Given the description of an element on the screen output the (x, y) to click on. 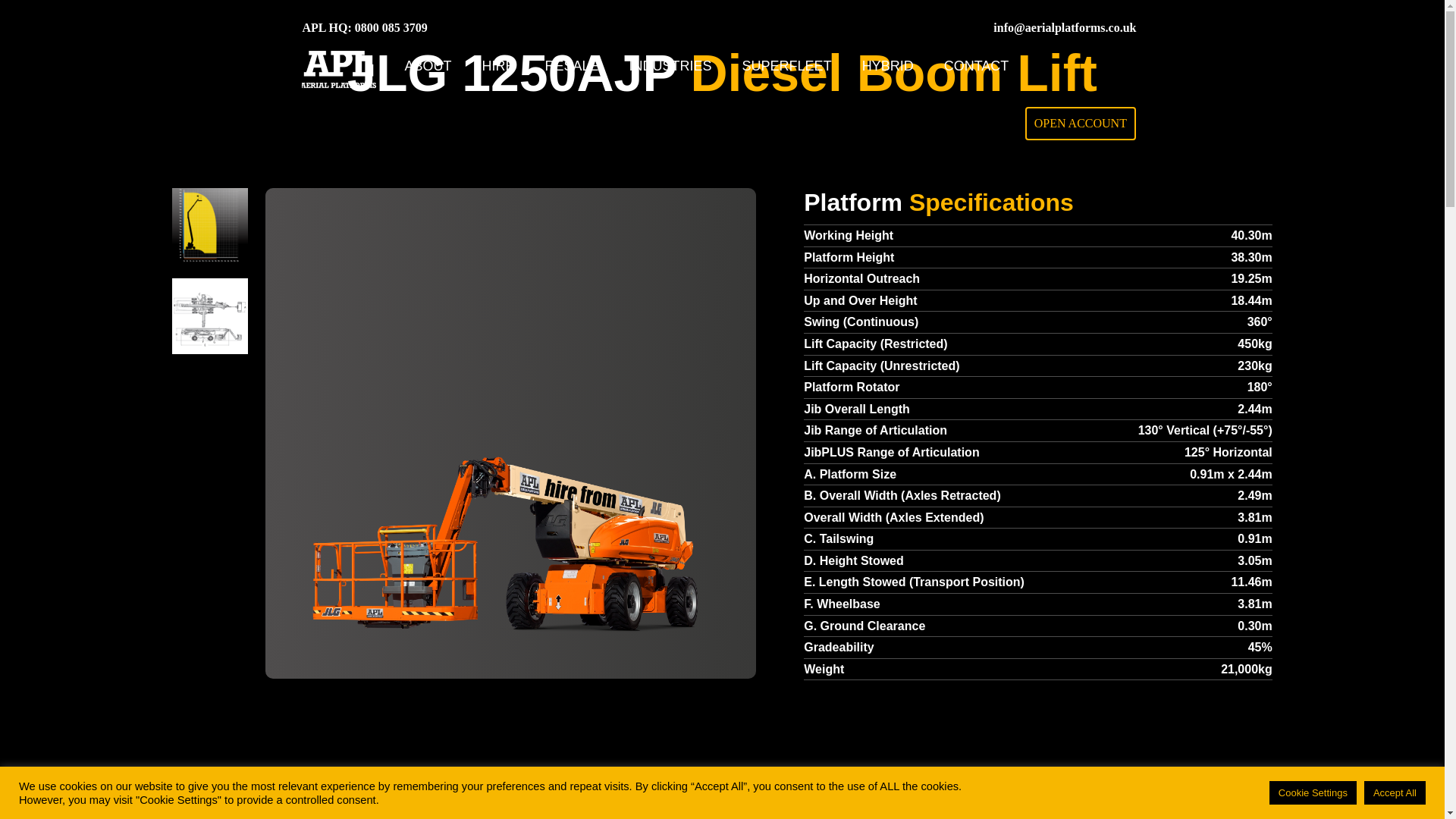
OPEN ACCOUNT (1080, 123)
ABOUT (428, 66)
HYBRID (887, 66)
SUPERFLEET (787, 66)
RESALE (572, 66)
0800 085 3709 (391, 27)
View our privacy policy (522, 791)
CONTACT (976, 66)
Got it! (1396, 791)
INDUSTRIES (670, 66)
